Given the description of an element on the screen output the (x, y) to click on. 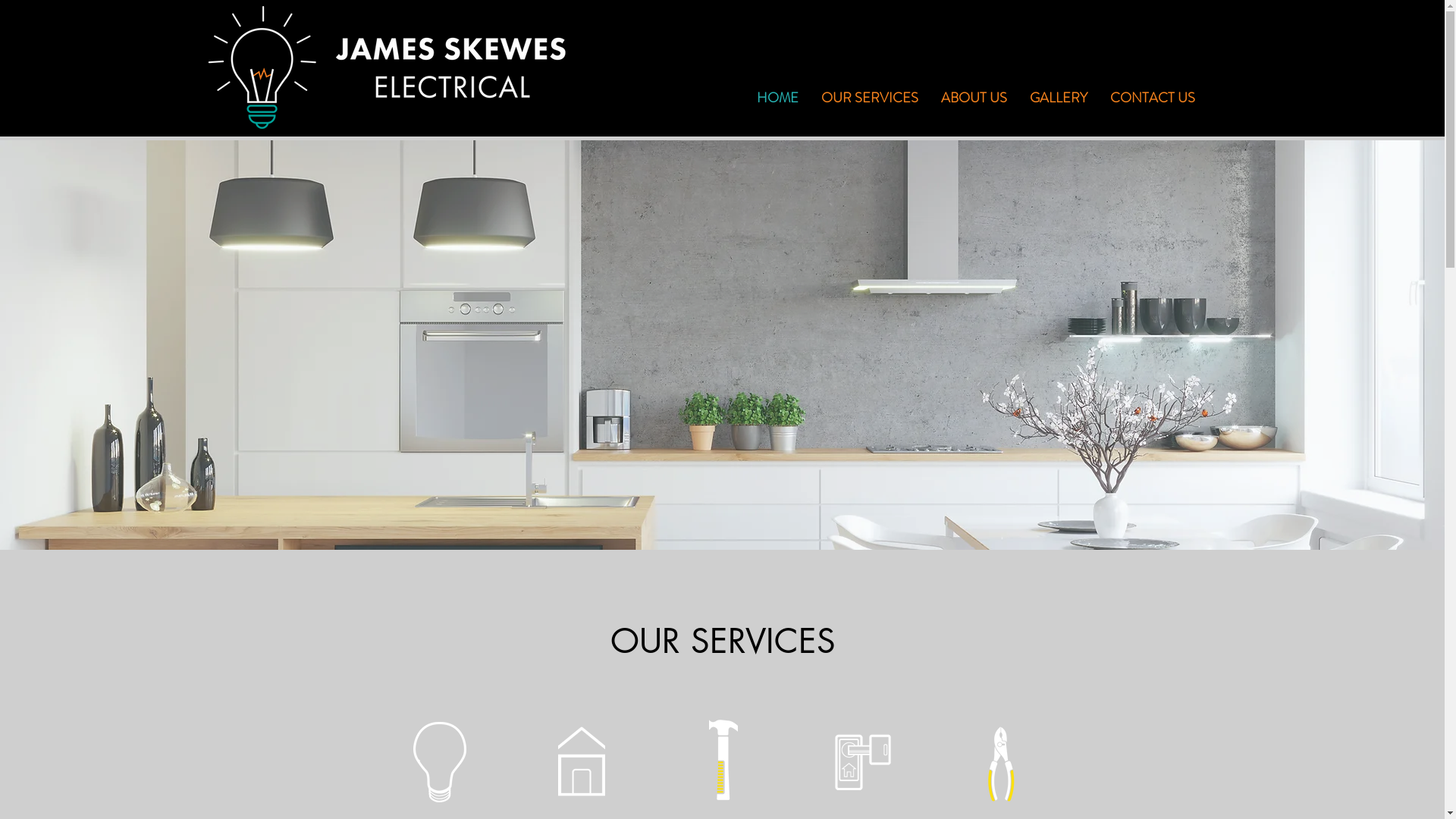
OUR SERVICES Element type: text (869, 97)
HOME Element type: text (776, 97)
GALLERY Element type: text (1057, 97)
ABOUT US Element type: text (973, 97)
CONTACT US Element type: text (1151, 97)
pexels-photo-06.png Element type: hover (722, 756)
